Given the description of an element on the screen output the (x, y) to click on. 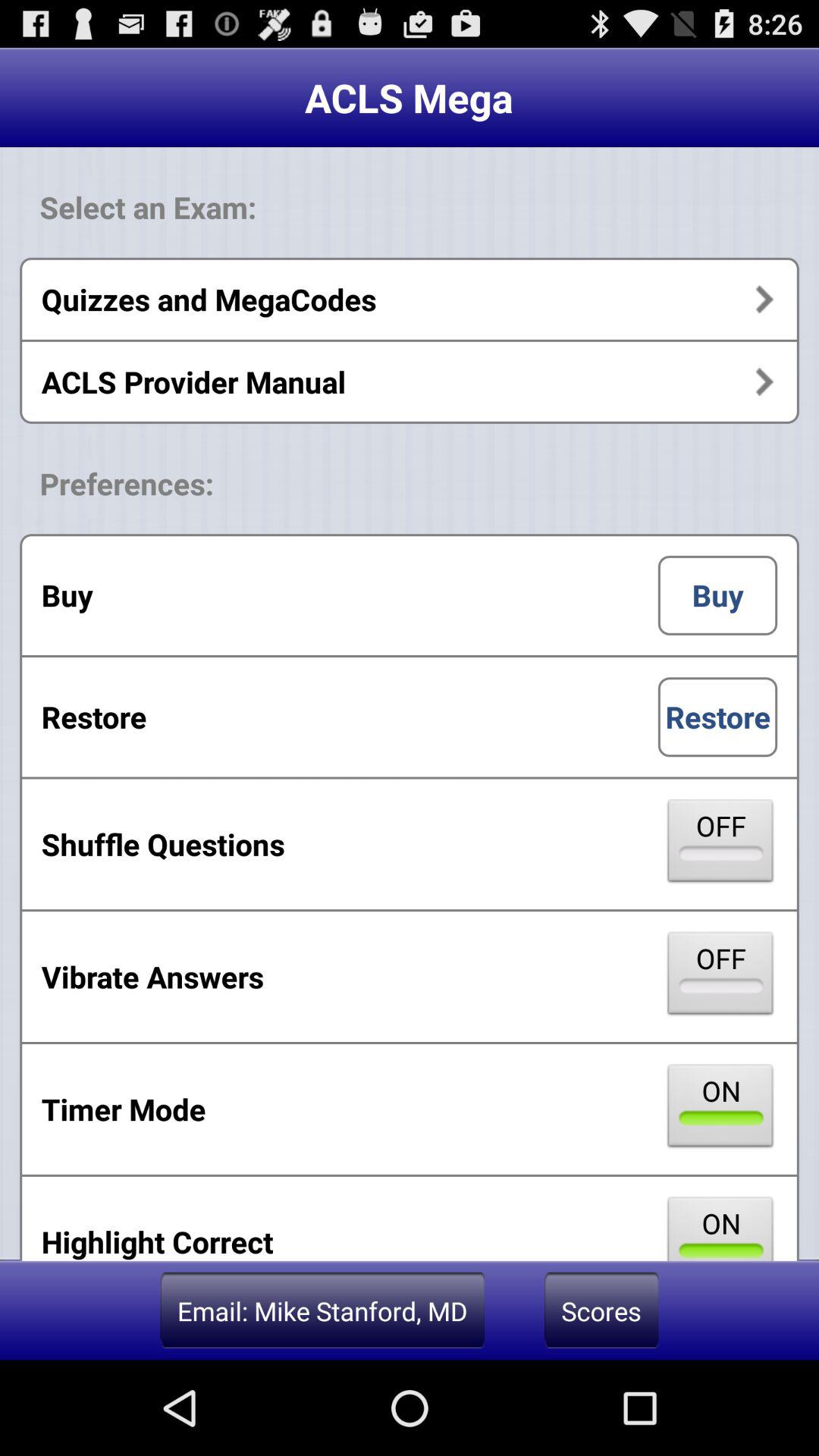
turn on icon next to the email mike stanford icon (601, 1310)
